Given the description of an element on the screen output the (x, y) to click on. 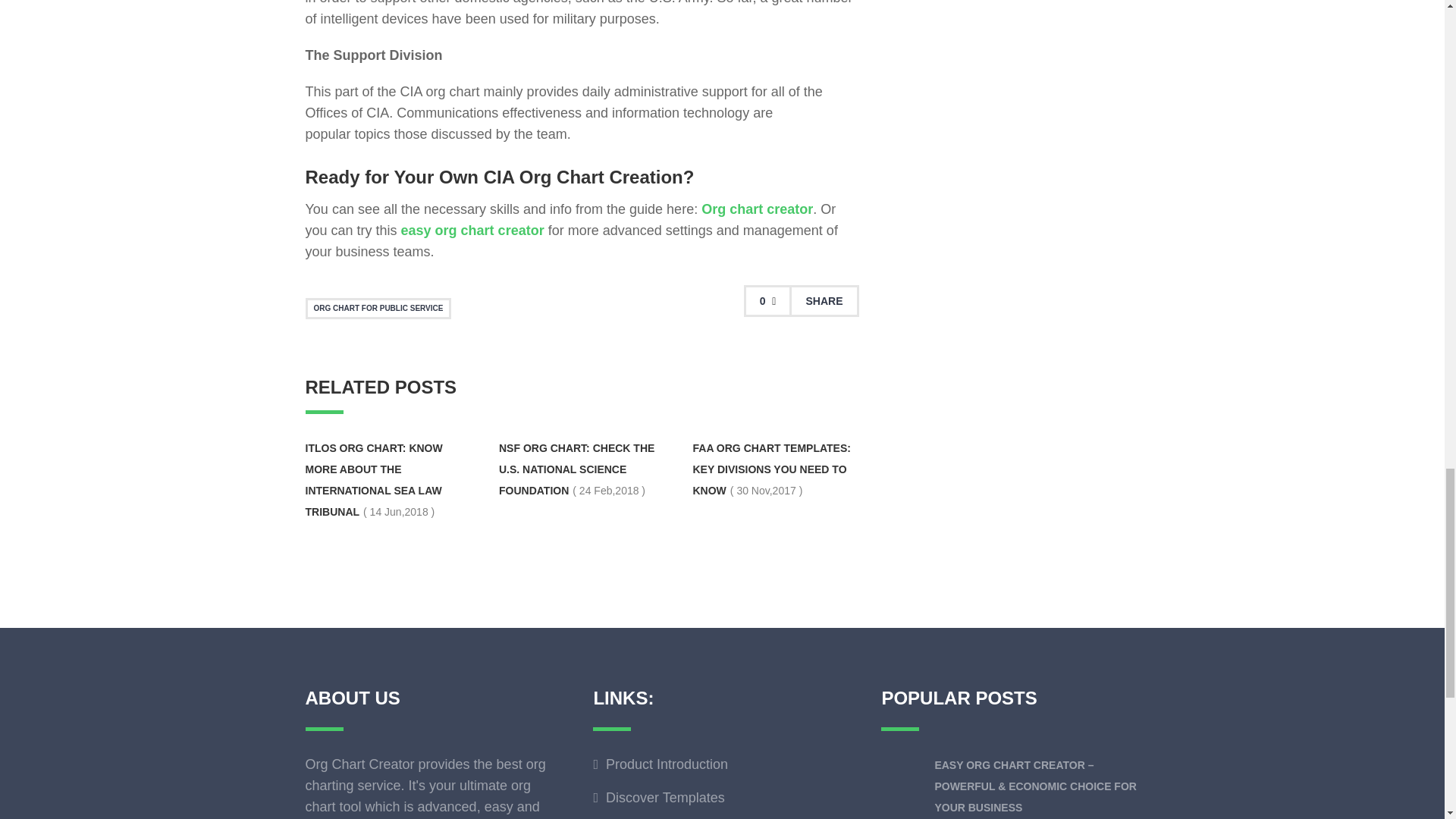
Org chart creator (756, 209)
ORG CHART FOR PUBLIC SERVICE (377, 308)
FAA ORG CHART TEMPLATES: KEY DIVISIONS YOU NEED TO KNOW (771, 469)
easy org chart creator (472, 230)
NSF ORG CHART: CHECK THE U.S. NATIONAL SCIENCE FOUNDATION (576, 469)
